Given the description of an element on the screen output the (x, y) to click on. 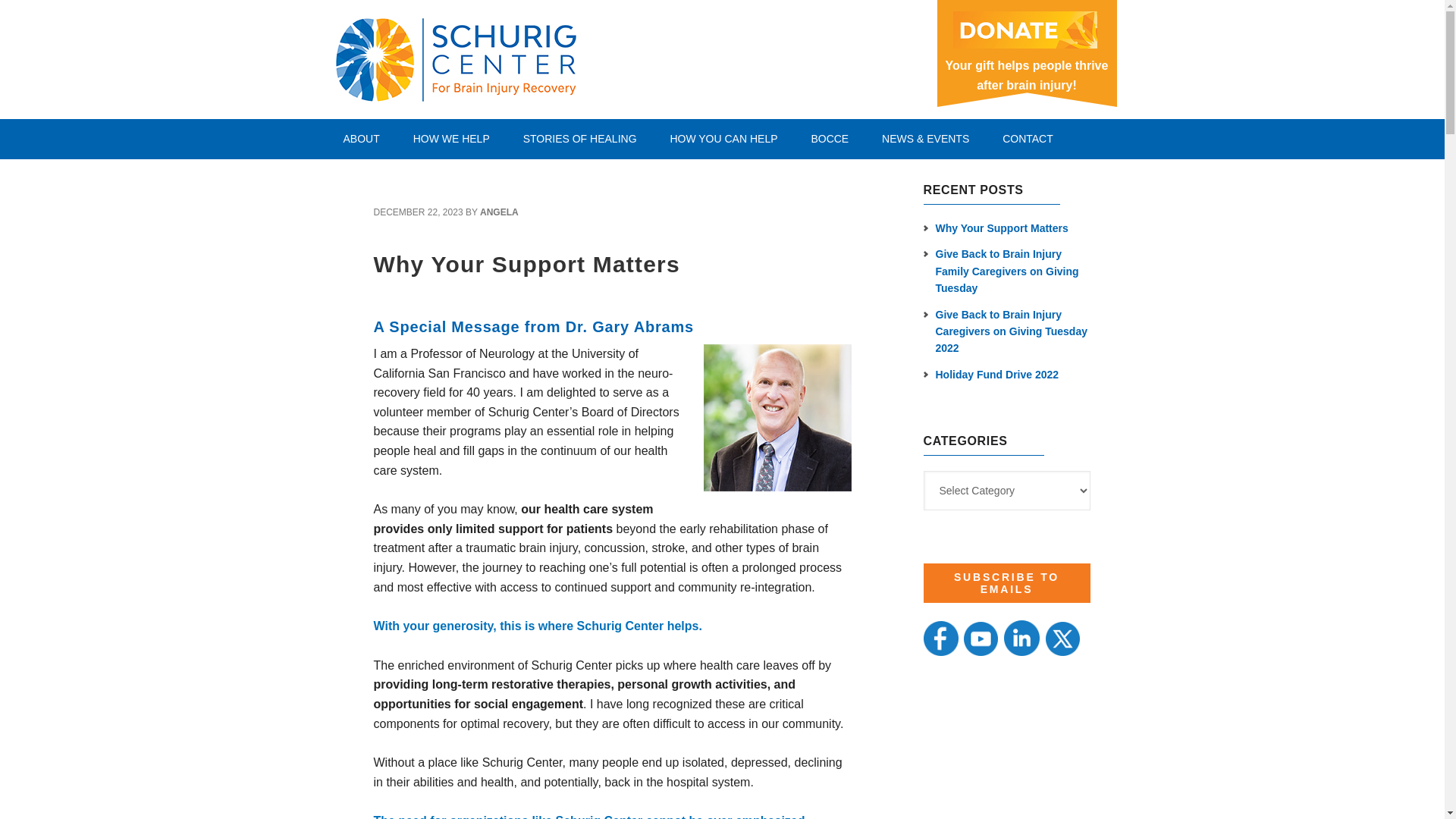
STORIES OF HEALING (580, 138)
ANGELA (499, 212)
HOW YOU CAN HELP (722, 138)
CONTACT (1027, 138)
Schurig Center for Brain Injury Recovery (535, 56)
Why Your Support Matters (525, 263)
HOW WE HELP (451, 138)
BOCCE (828, 138)
ABOUT (360, 138)
